Given the description of an element on the screen output the (x, y) to click on. 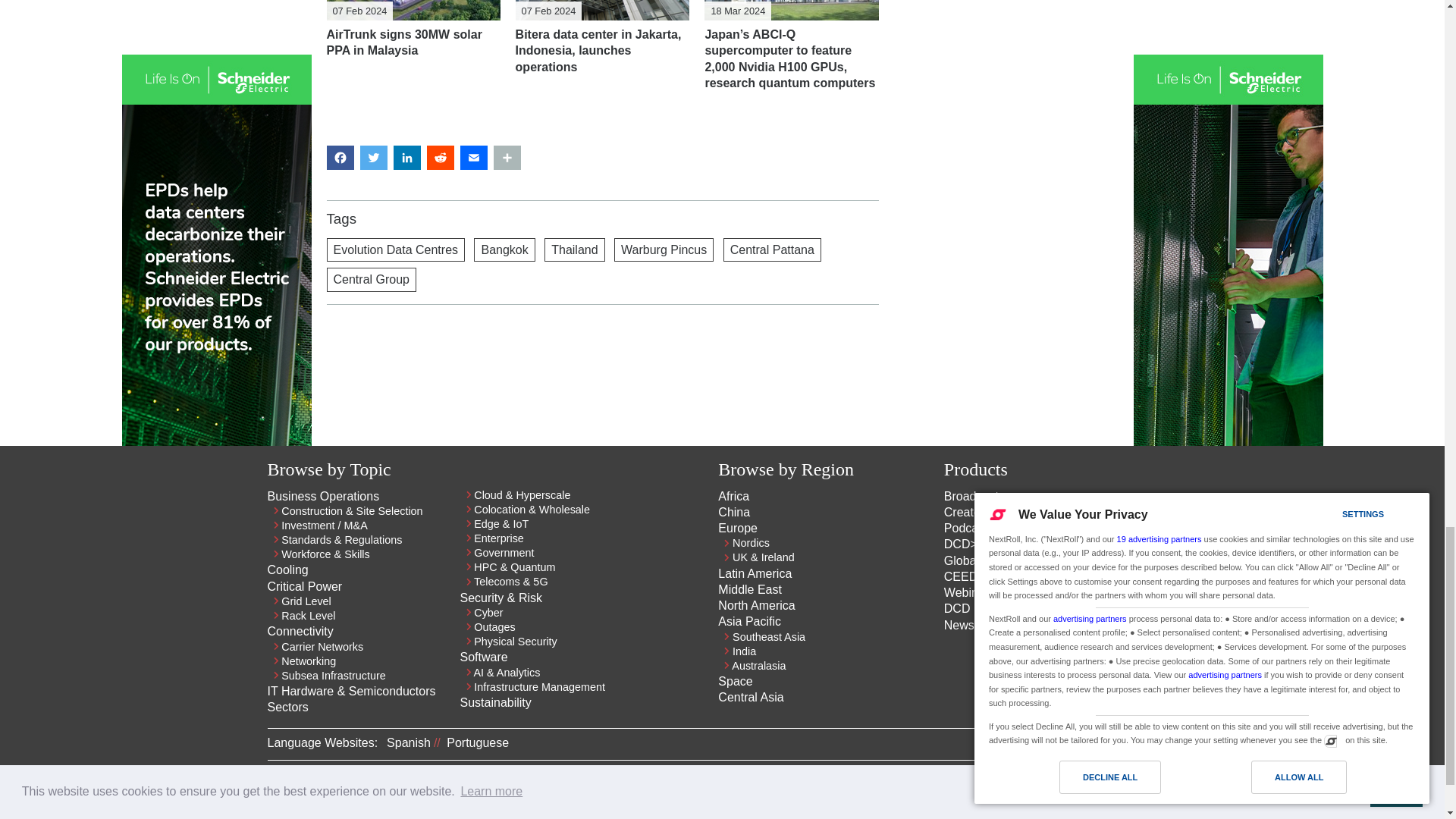
Facebook (1167, 781)
Twitter (1140, 781)
3rd party ad content (1007, 3)
Linkedin (1113, 781)
3rd party ad content (601, 368)
